Given the description of an element on the screen output the (x, y) to click on. 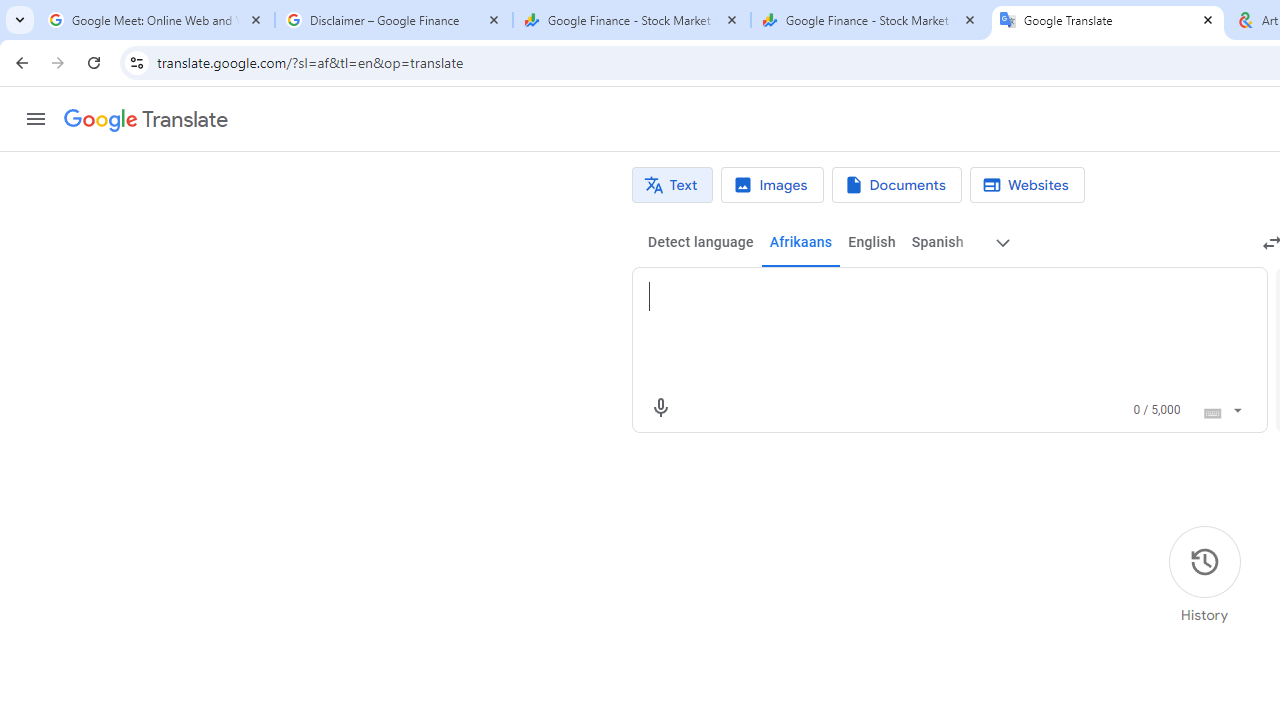
Undo Bullet Default (290, 31)
